Given the description of an element on the screen output the (x, y) to click on. 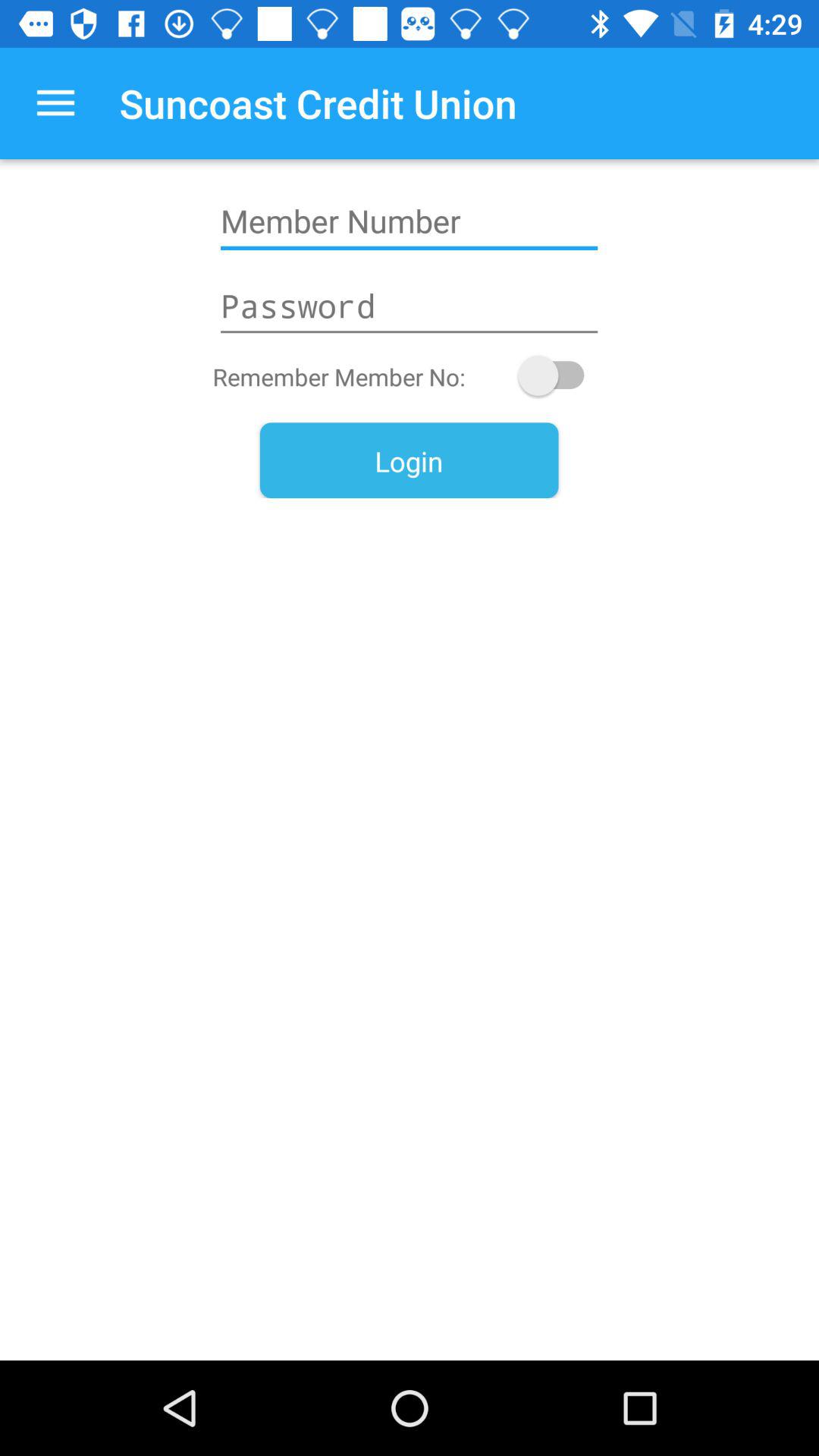
toggle remember my sign-in (558, 375)
